Given the description of an element on the screen output the (x, y) to click on. 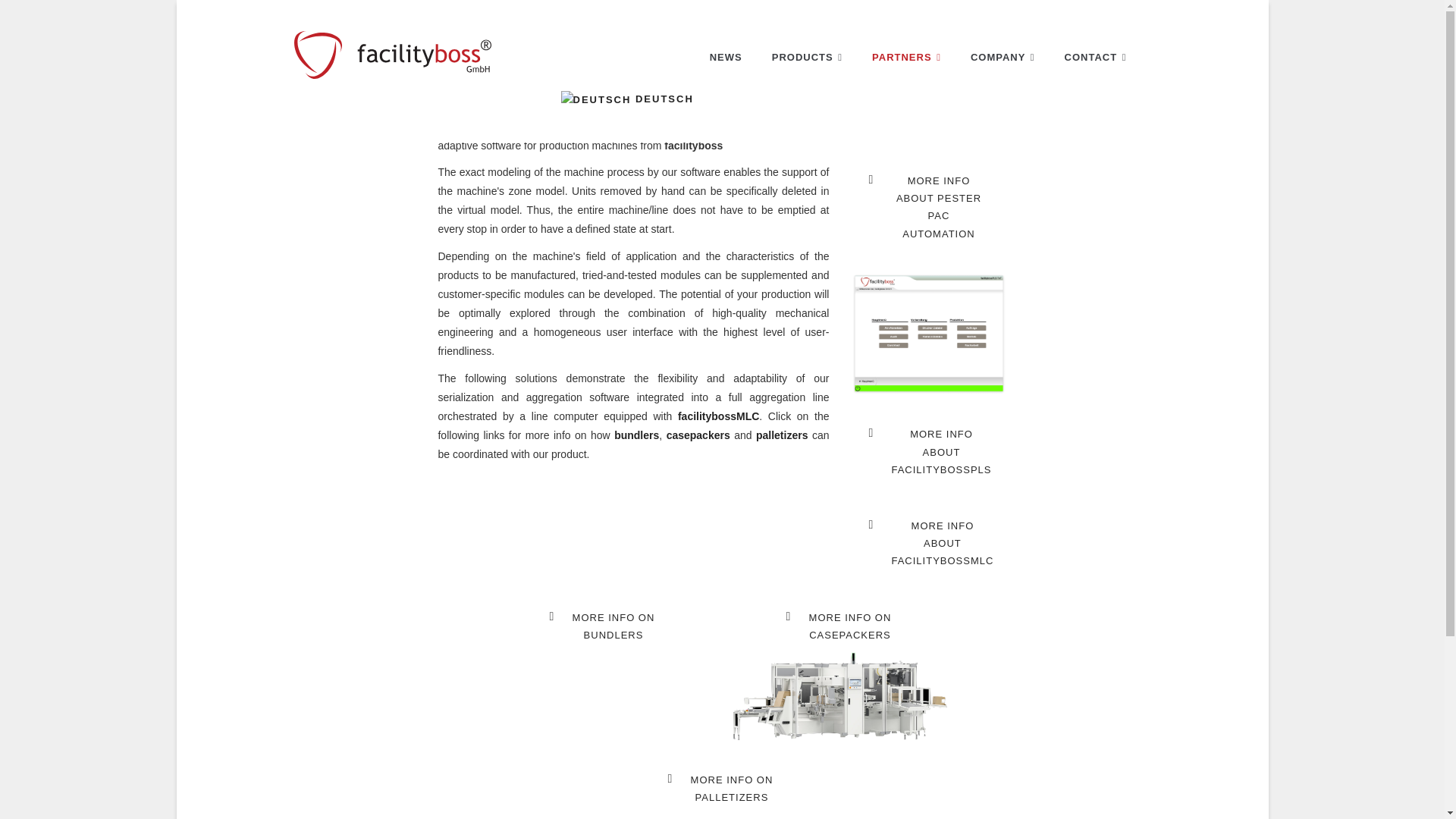
facilitybossMLC (718, 416)
Skip to main content (841, 626)
Home (721, 788)
bundlers (906, 57)
MORE INFO ABOUT PESTER PAC AUTOMATION (393, 51)
Deutsch (603, 626)
COMPANY (636, 435)
facilitybossPLS (928, 207)
palletizers (595, 99)
casepackers (1001, 57)
DEUTSCH (665, 125)
